Given the description of an element on the screen output the (x, y) to click on. 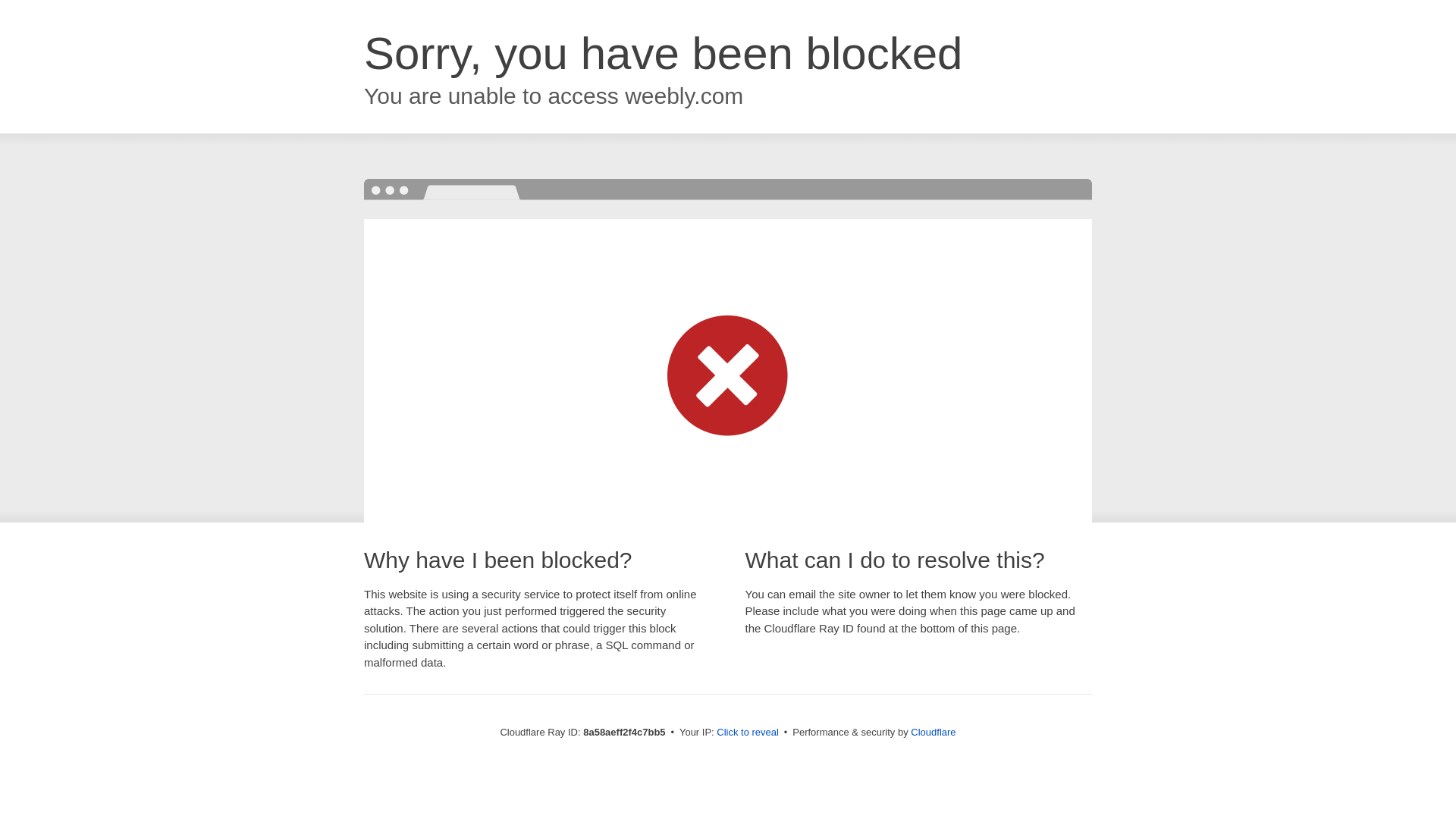
Cloudflare (933, 731)
Click to reveal (747, 732)
